Given the description of an element on the screen output the (x, y) to click on. 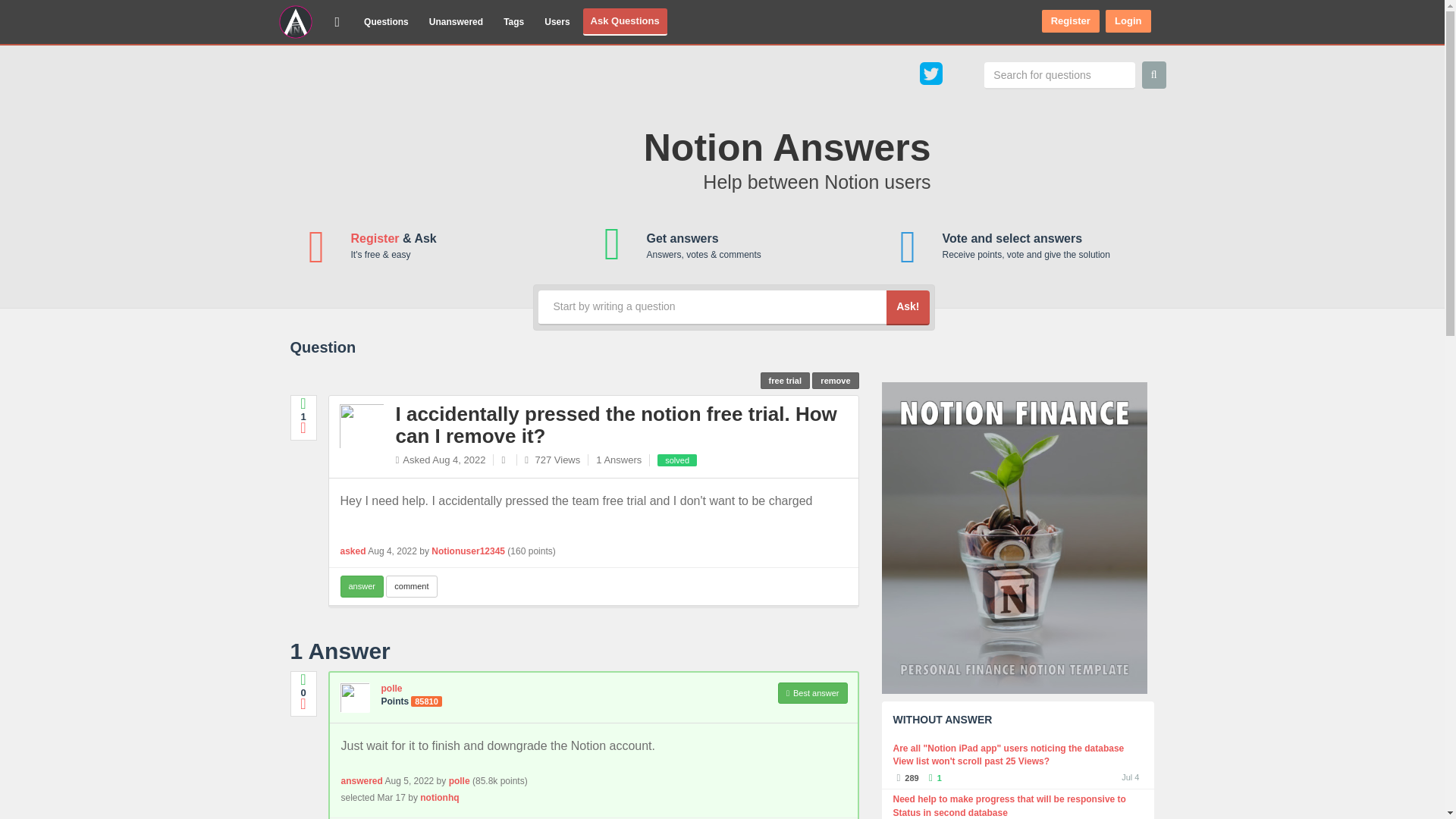
Total views (552, 460)
Status of question (680, 460)
free trial (784, 380)
Register (374, 237)
Notion Answers (339, 21)
Click to vote down (303, 427)
bookmark this! (616, 424)
Unanswered (456, 21)
Click to vote down (303, 703)
Add a comment on this question (410, 586)
